Given the description of an element on the screen output the (x, y) to click on. 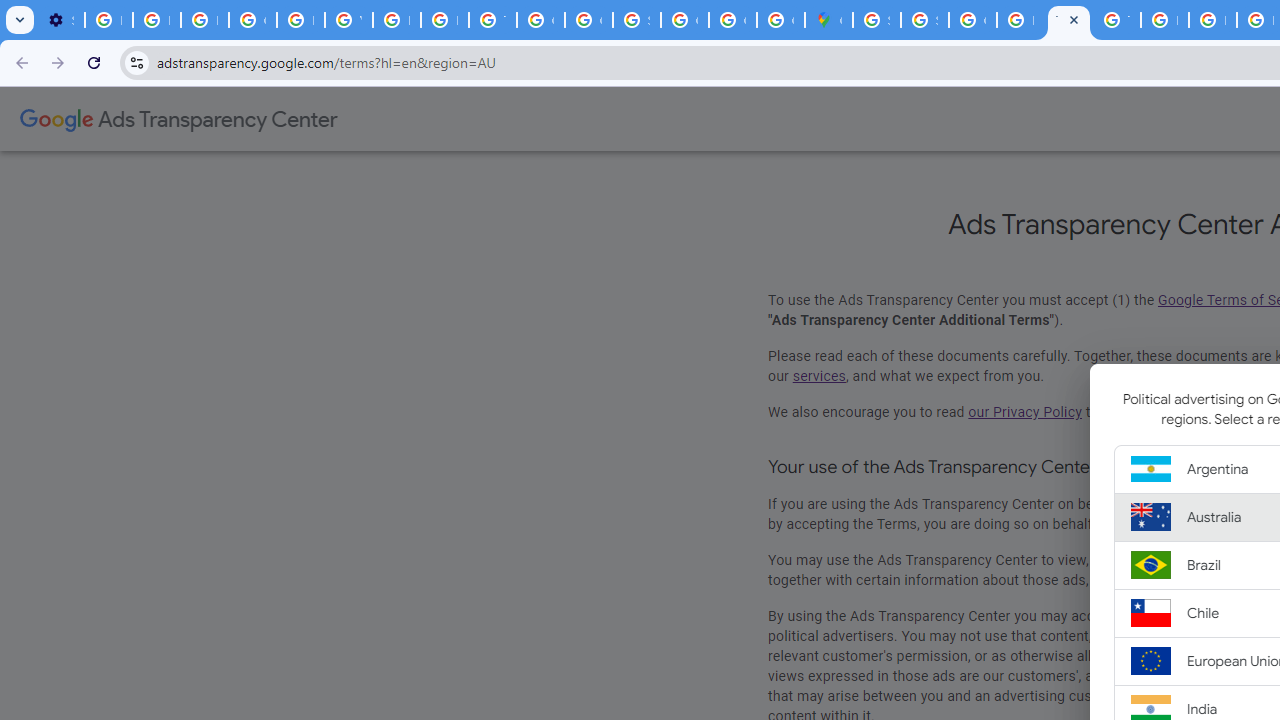
Terms and Conditions (1116, 20)
Sign in - Google Accounts (636, 20)
Delete photos & videos - Computer - Google Photos Help (108, 20)
YouTube (348, 20)
Google Maps (828, 20)
Privacy Help Center - Policies Help (1212, 20)
Privacy Help Center - Policies Help (300, 20)
